Given the description of an element on the screen output the (x, y) to click on. 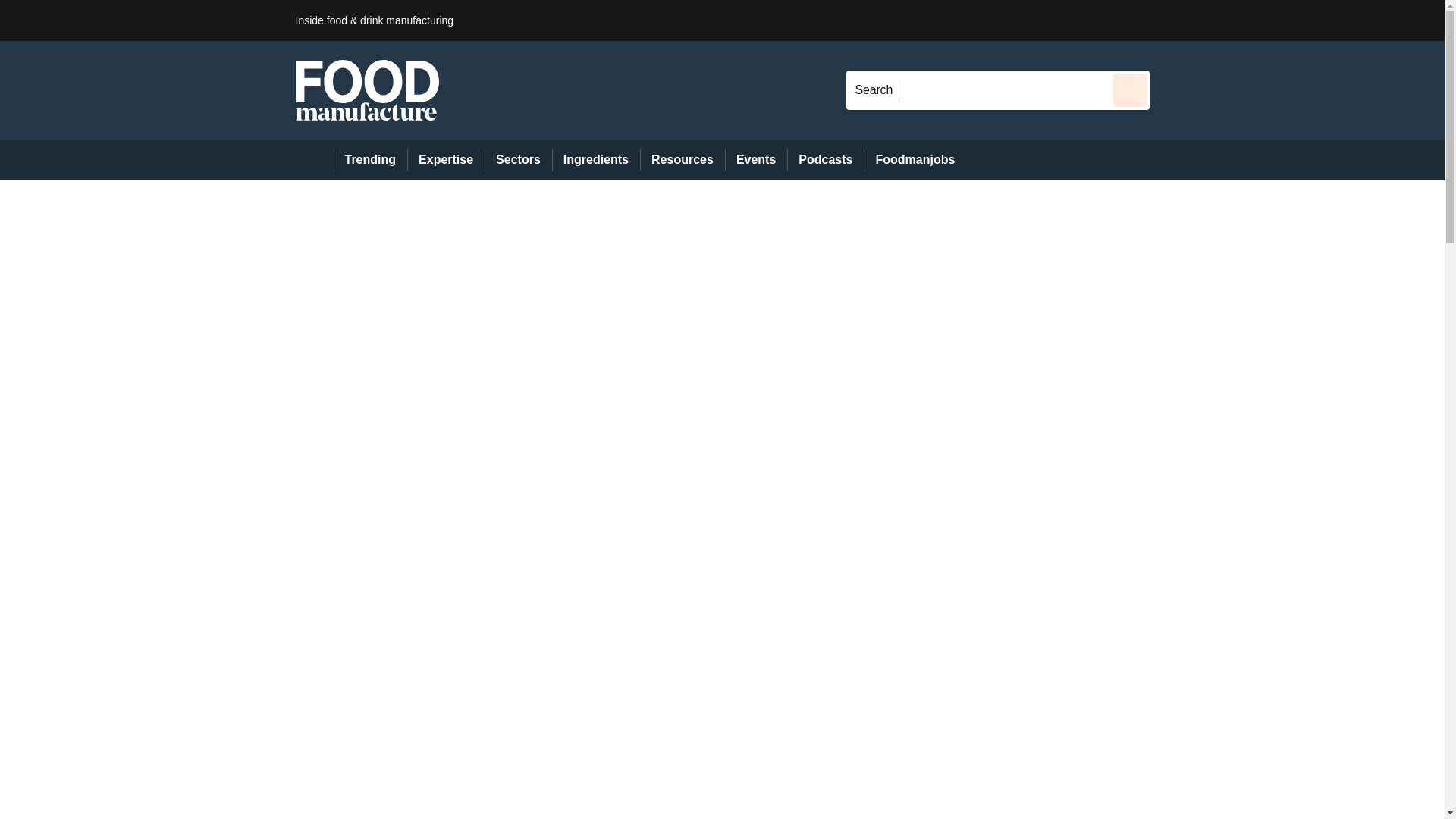
Expertise (445, 159)
Send (1129, 89)
REGISTER (1250, 20)
Home (314, 159)
FoodManufacture (367, 89)
Sign out (1174, 20)
Sign in (1171, 20)
My account (1256, 20)
Trending (370, 159)
Send (1129, 90)
Home (313, 159)
